Given the description of an element on the screen output the (x, y) to click on. 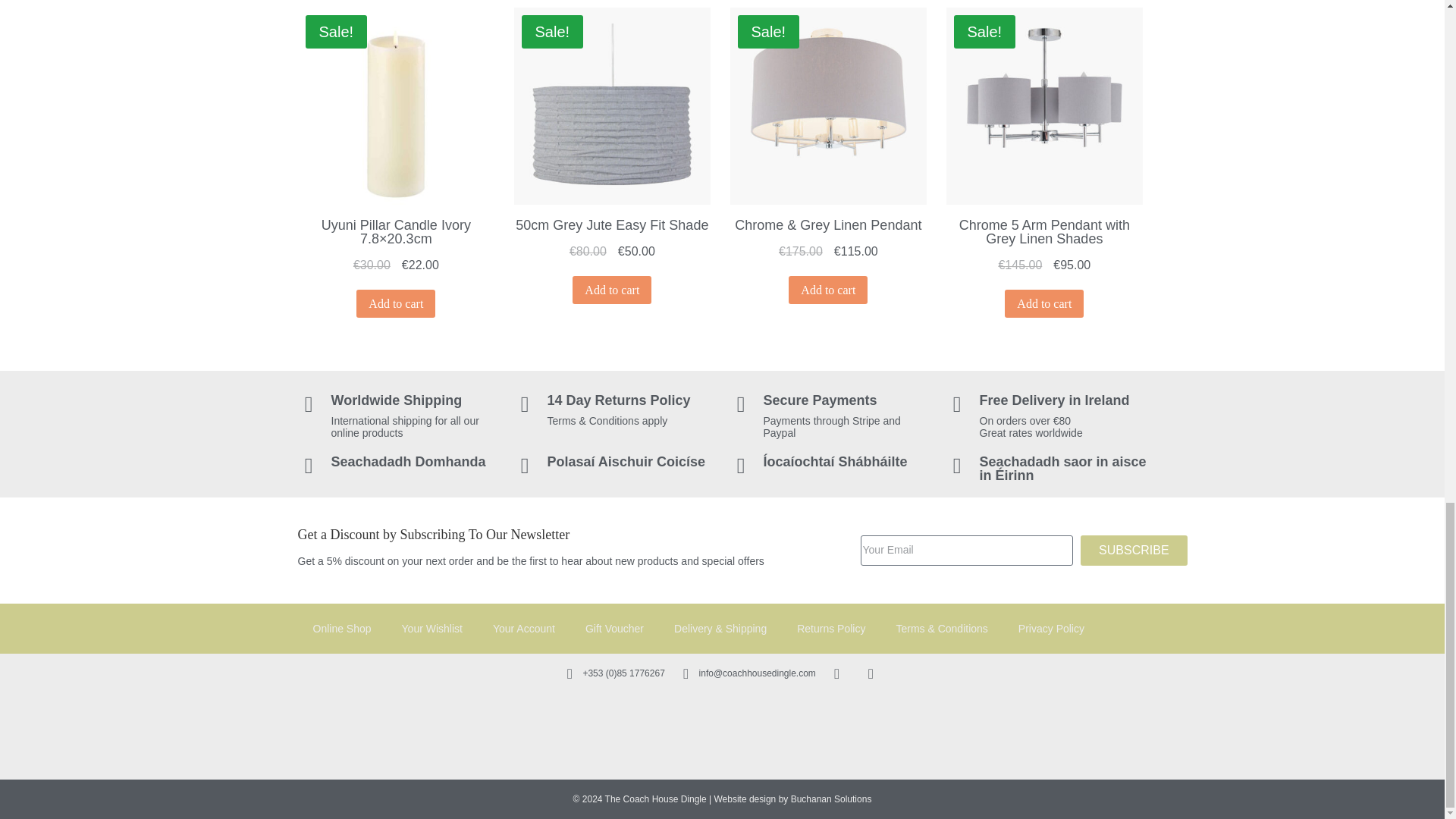
Website design by Buchanan Solutions (791, 798)
